Given the description of an element on the screen output the (x, y) to click on. 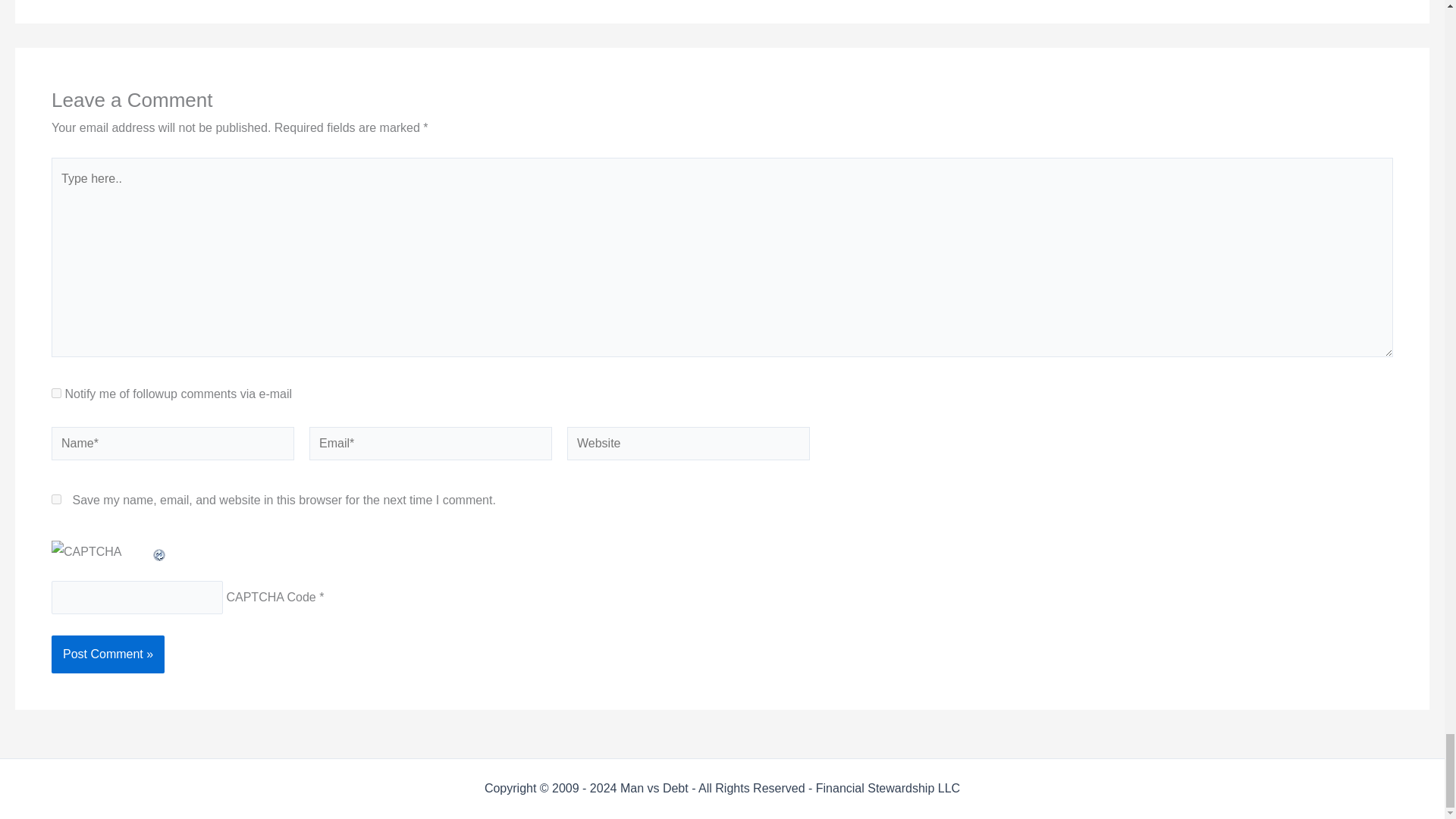
Refresh (159, 551)
subscribe (55, 393)
yes (55, 499)
CAPTCHA (100, 556)
